Given the description of an element on the screen output the (x, y) to click on. 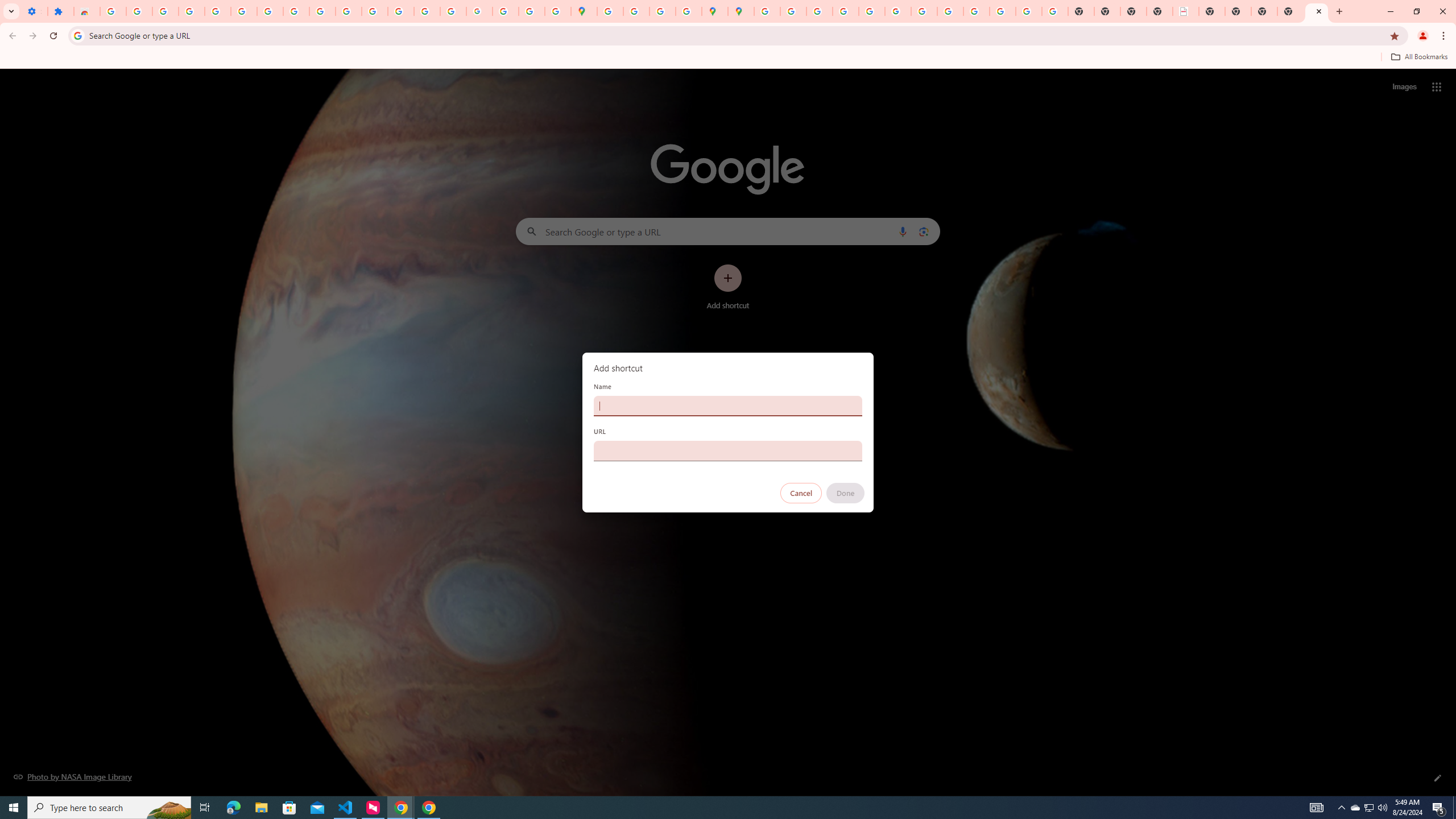
LAAD Defence & Security 2025 | BAE Systems (1185, 11)
Reviews: Helix Fruit Jump Arcade Game (86, 11)
YouTube (923, 11)
URL (727, 450)
Google Maps (584, 11)
Bookmarks (728, 58)
https://scholar.google.com/ (374, 11)
Privacy Help Center - Policies Help (818, 11)
